Given the description of an element on the screen output the (x, y) to click on. 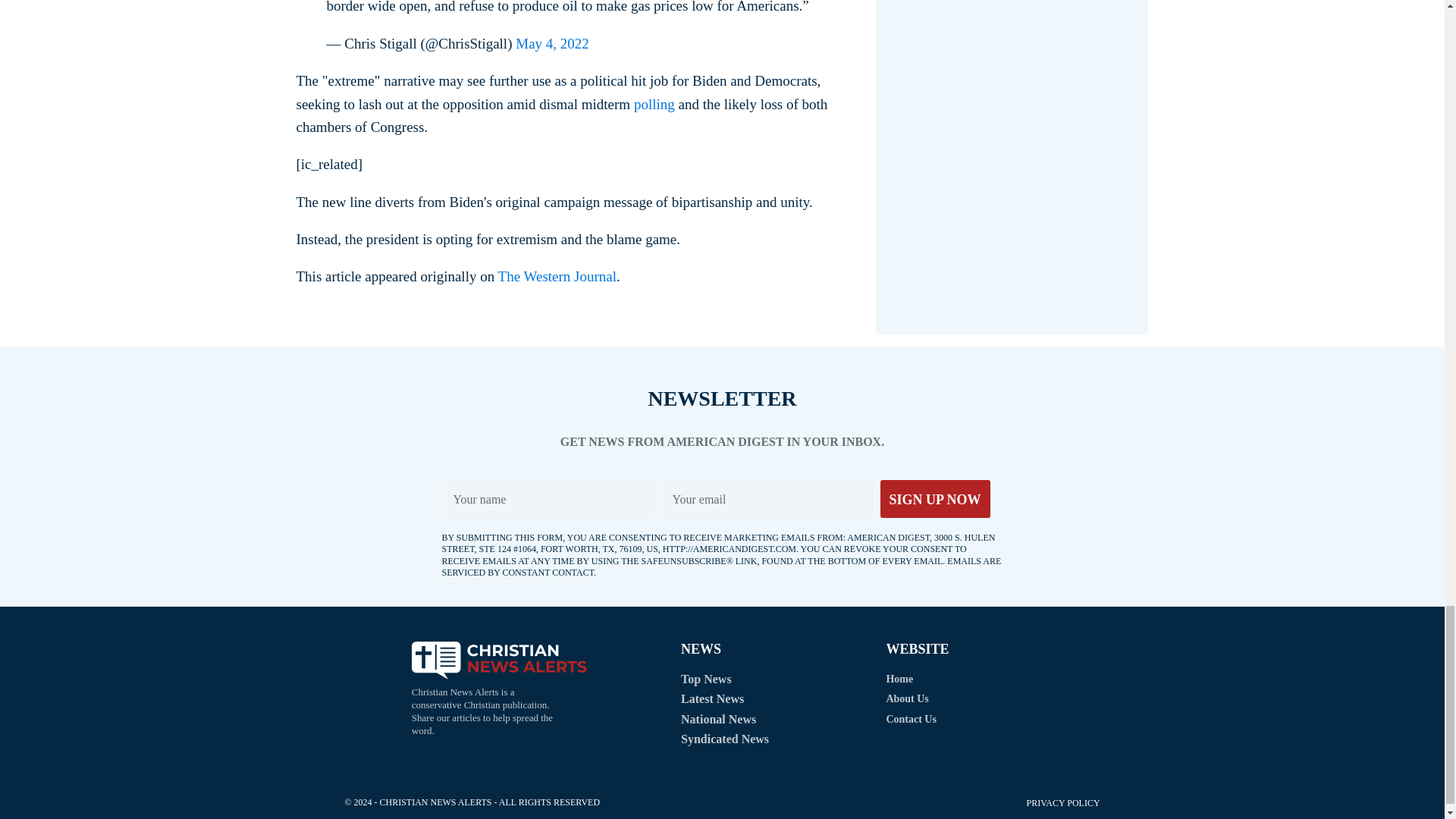
SIGN UP NOW (934, 498)
May 4, 2022 (552, 43)
The Western Journal (556, 276)
polling (654, 103)
